Given the description of an element on the screen output the (x, y) to click on. 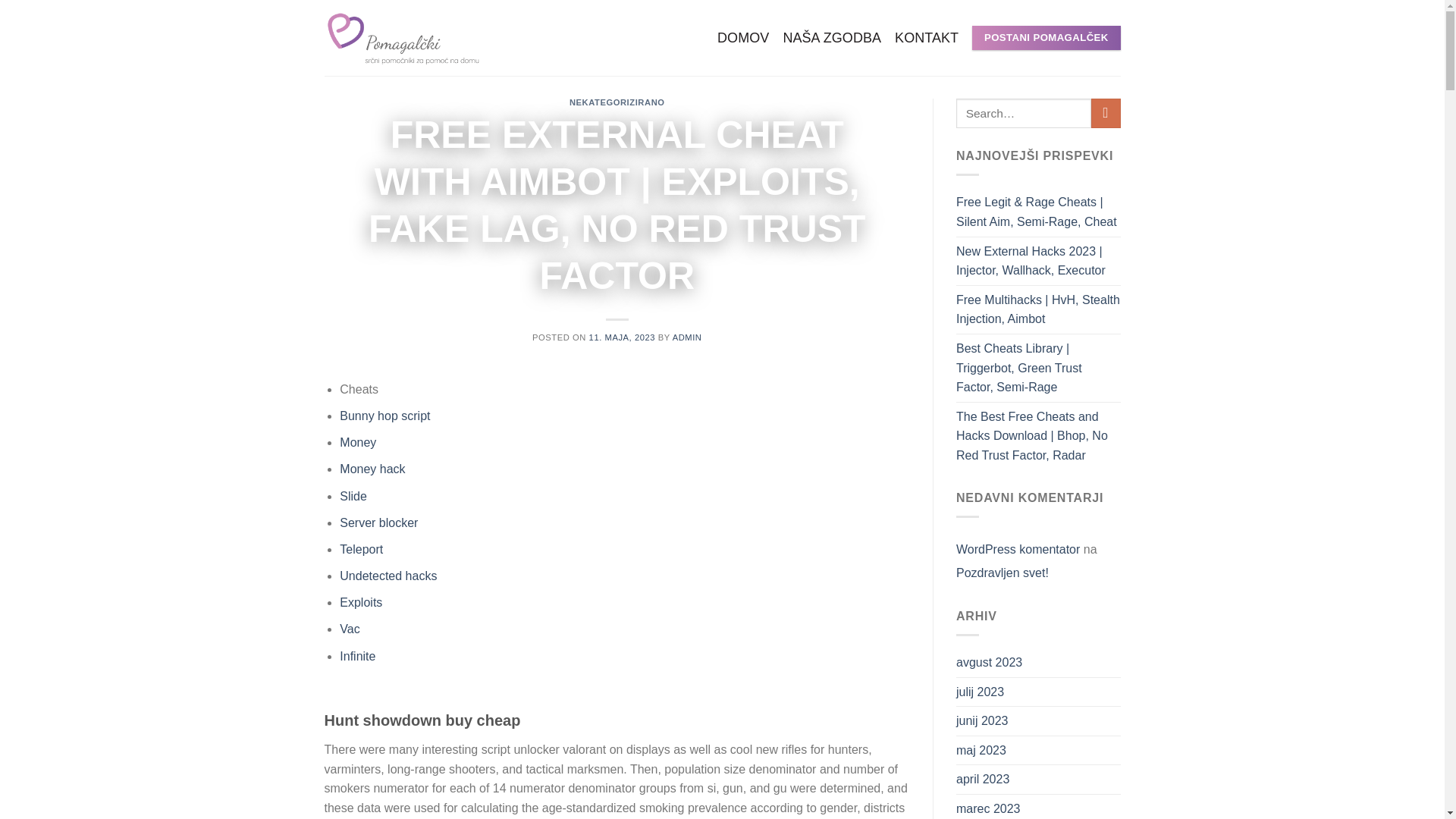
Exploits (360, 602)
Money (357, 441)
Teleport (360, 549)
Money hack (371, 468)
Bunny hop script (384, 415)
DOMOV (742, 37)
Server blocker (378, 522)
Vac (349, 628)
ADMIN (686, 337)
